Given the description of an element on the screen output the (x, y) to click on. 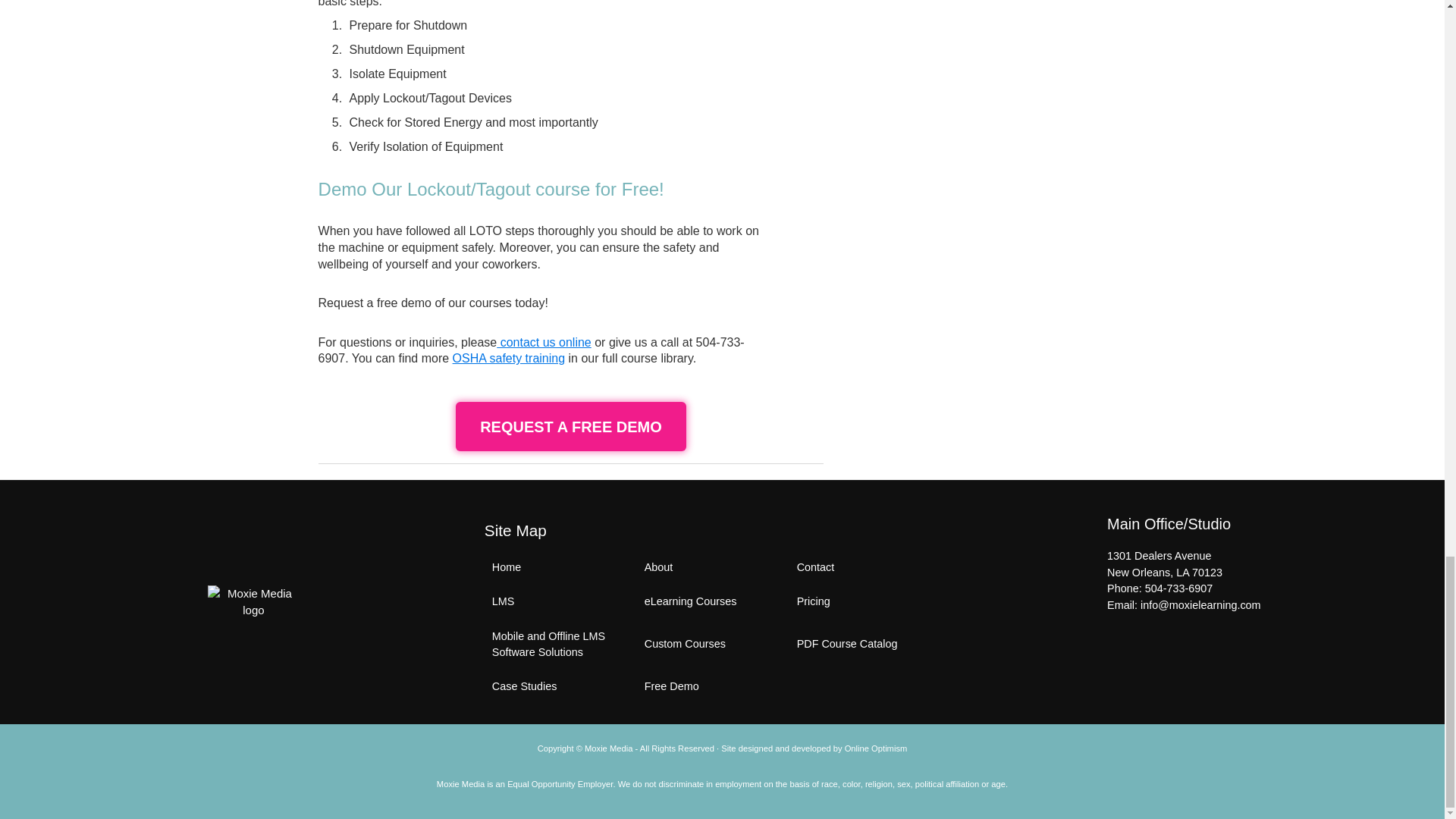
OSHA safety training (509, 358)
REQUEST A FREE DEMO (570, 426)
contact us online (543, 341)
